Given the description of an element on the screen output the (x, y) to click on. 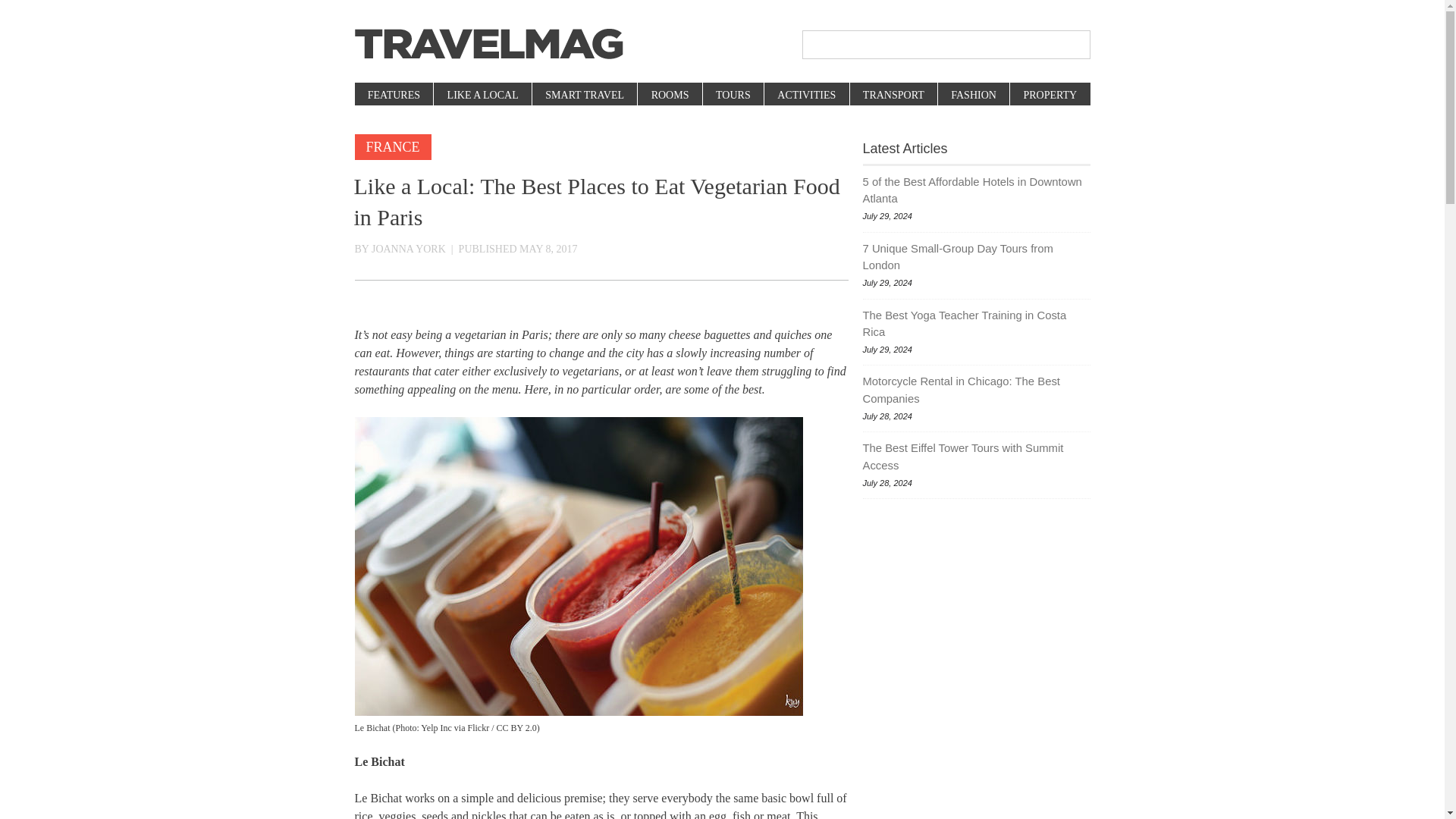
TRANSPORT (892, 95)
ACTIVITIES (805, 95)
ROOMS (669, 95)
5 of the Best Affordable Hotels in Downtown Atlanta (976, 190)
The Best Eiffel Tower Tours with Summit Access (976, 456)
FEATURES (394, 95)
PROPERTY (1049, 95)
FASHION (973, 95)
SMART TRAVEL (584, 95)
The Best Yoga Teacher Training in Costa Rica (976, 324)
TOURS (731, 95)
LIKE A LOCAL (481, 95)
Motorcycle Rental in Chicago: The Best Companies (976, 390)
TravelMag (489, 43)
7 Unique Small-Group Day Tours from London (976, 257)
